Given the description of an element on the screen output the (x, y) to click on. 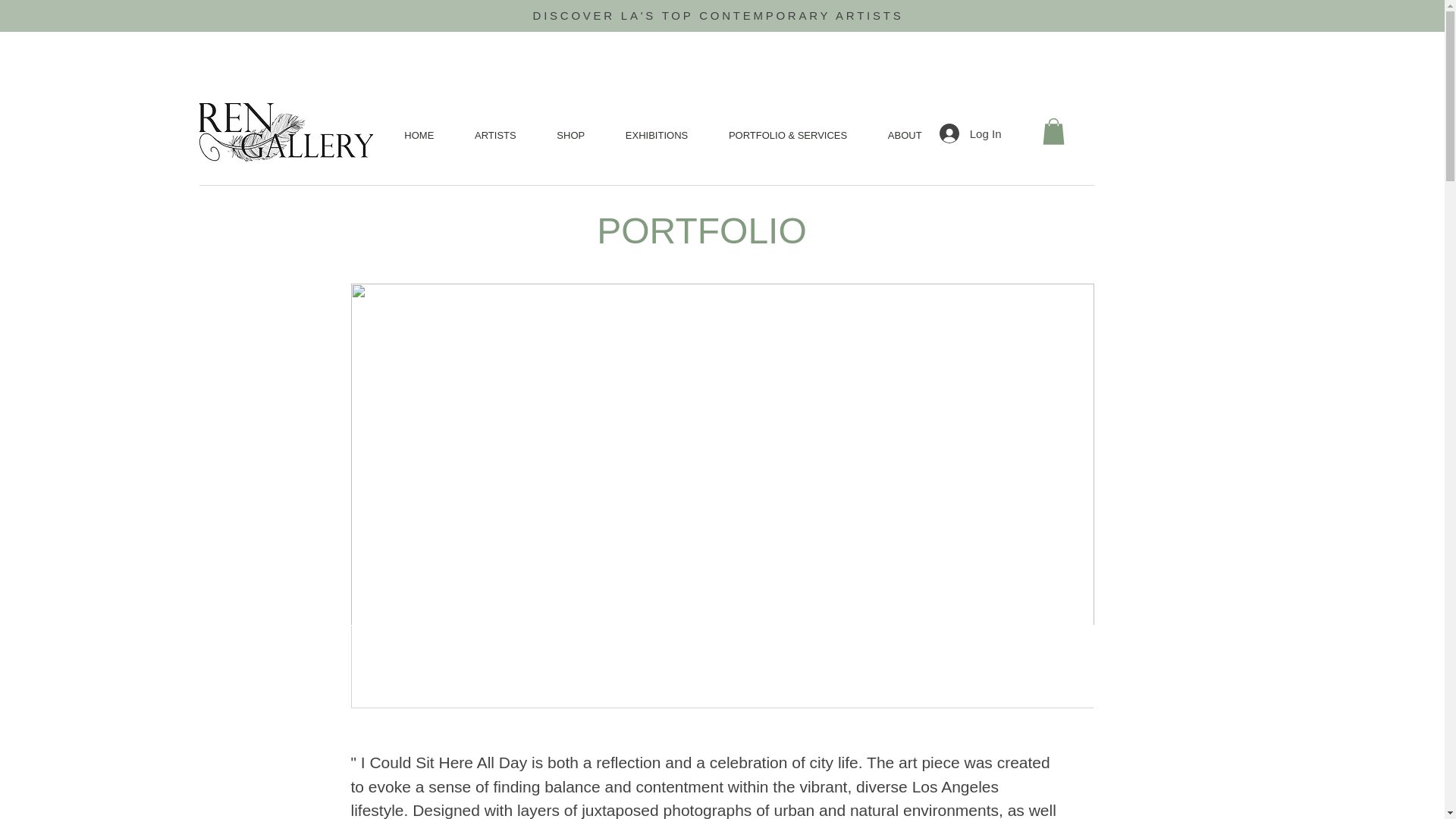
SHOP (571, 135)
EXHIBITIONS (656, 135)
HOME (419, 135)
Log In (969, 133)
ARTISTS (494, 135)
PORTFOLIO (701, 230)
ABOUT (904, 135)
